Given the description of an element on the screen output the (x, y) to click on. 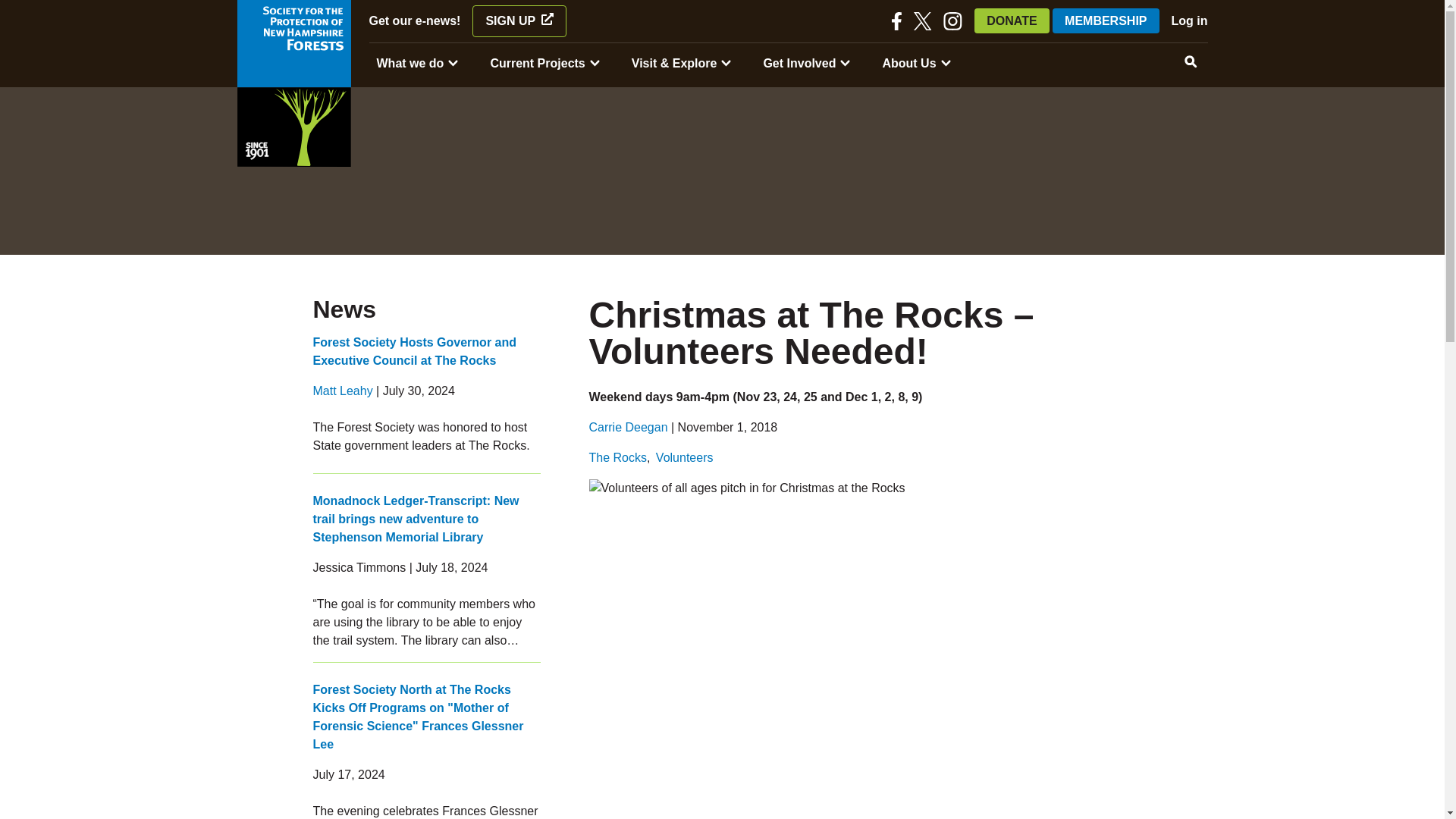
Current Projects (537, 63)
MEMBERSHIP (1105, 20)
More "What we do" pages (453, 63)
Open search (1190, 62)
Forest Society on Twitter (922, 21)
Log in (1190, 20)
What we do (409, 63)
Forest Society on Instagram (952, 21)
DONATE (1011, 20)
